Given the description of an element on the screen output the (x, y) to click on. 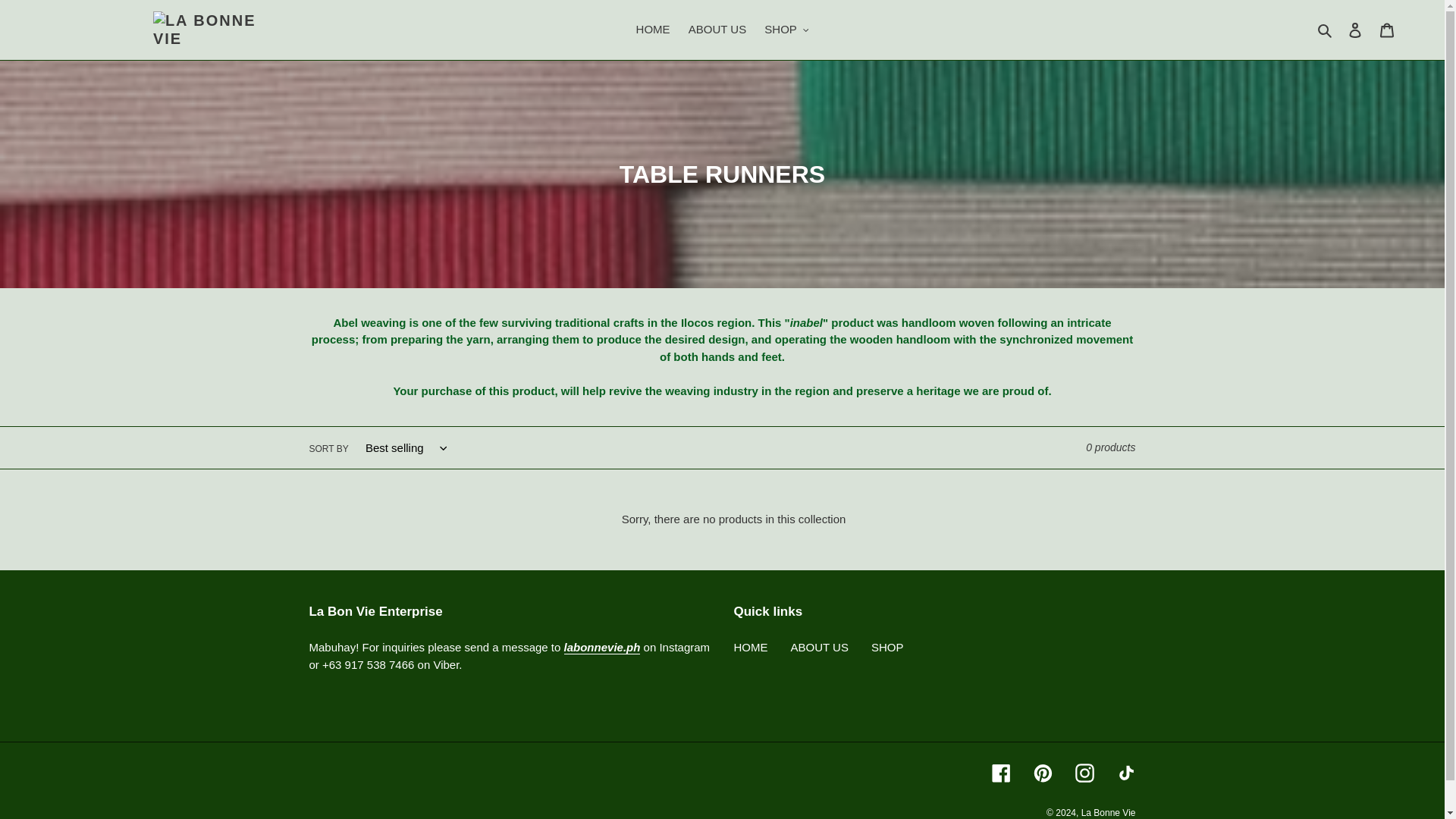
SHOP (786, 29)
ABOUT US (717, 29)
HOME (653, 29)
Cart (1387, 29)
Search (1326, 29)
Log in (1355, 29)
